Given the description of an element on the screen output the (x, y) to click on. 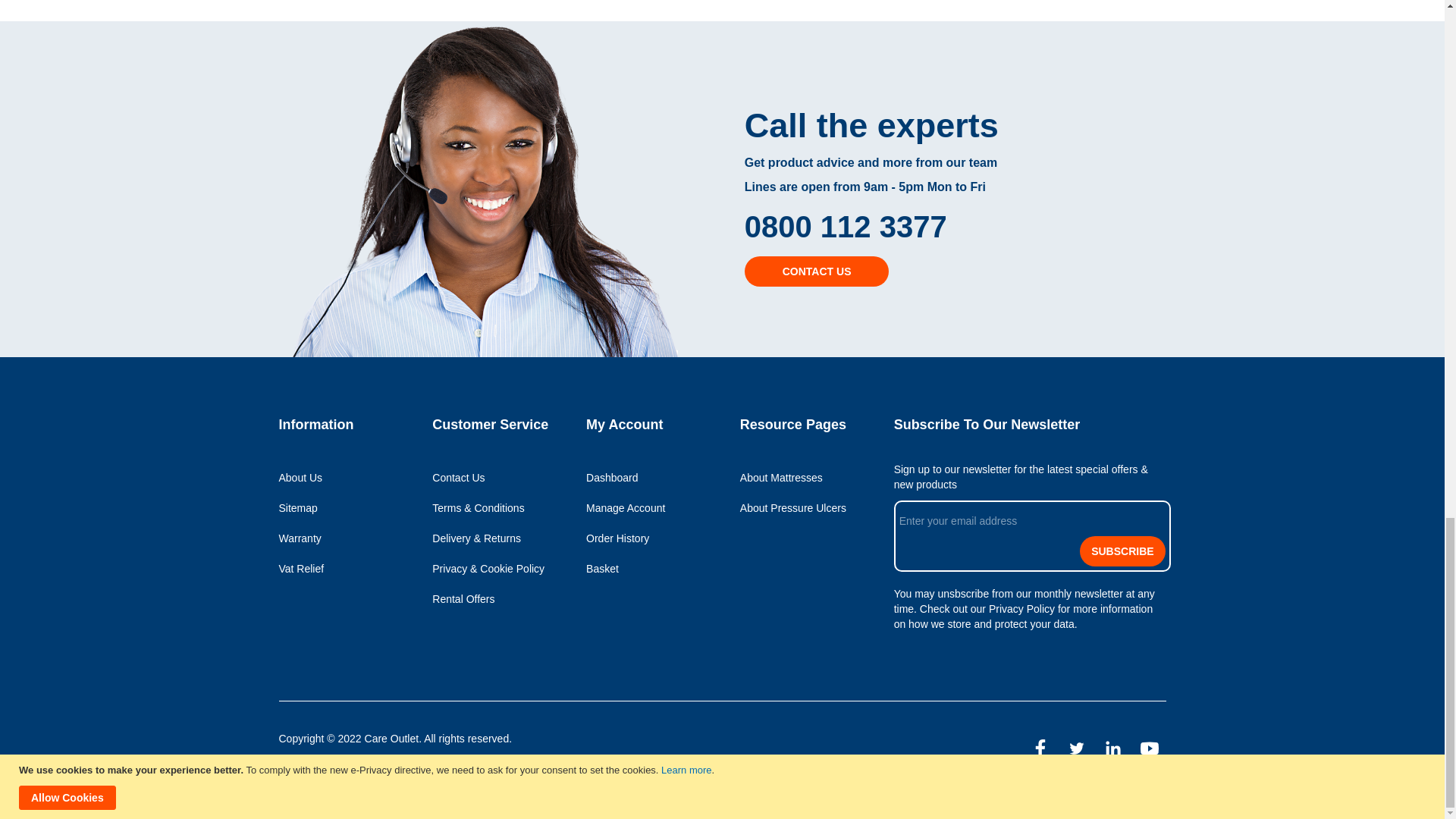
Subscribe (1122, 551)
